Given the description of an element on the screen output the (x, y) to click on. 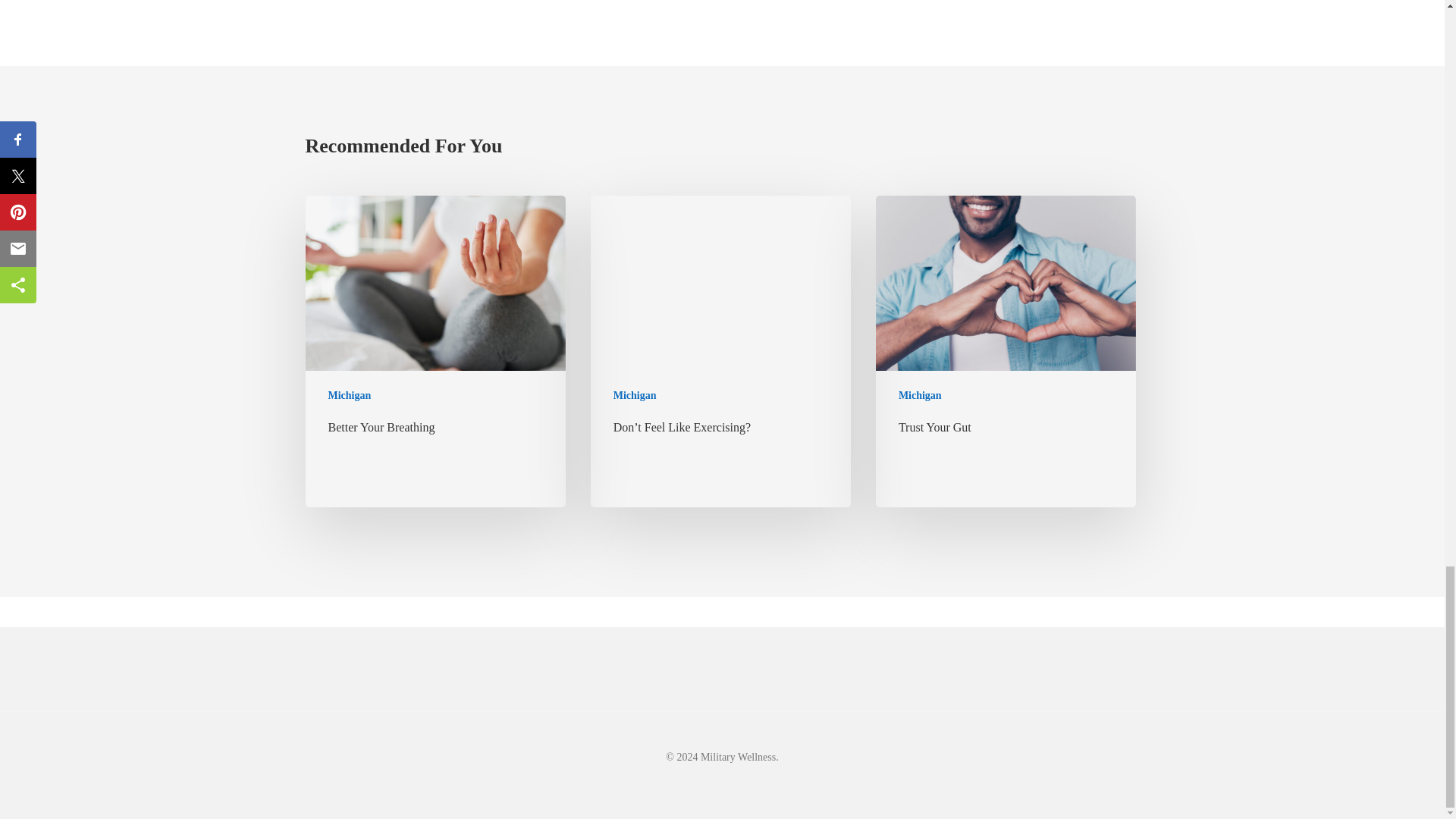
Michigan (634, 394)
Michigan (920, 394)
Michigan (349, 394)
